Given the description of an element on the screen output the (x, y) to click on. 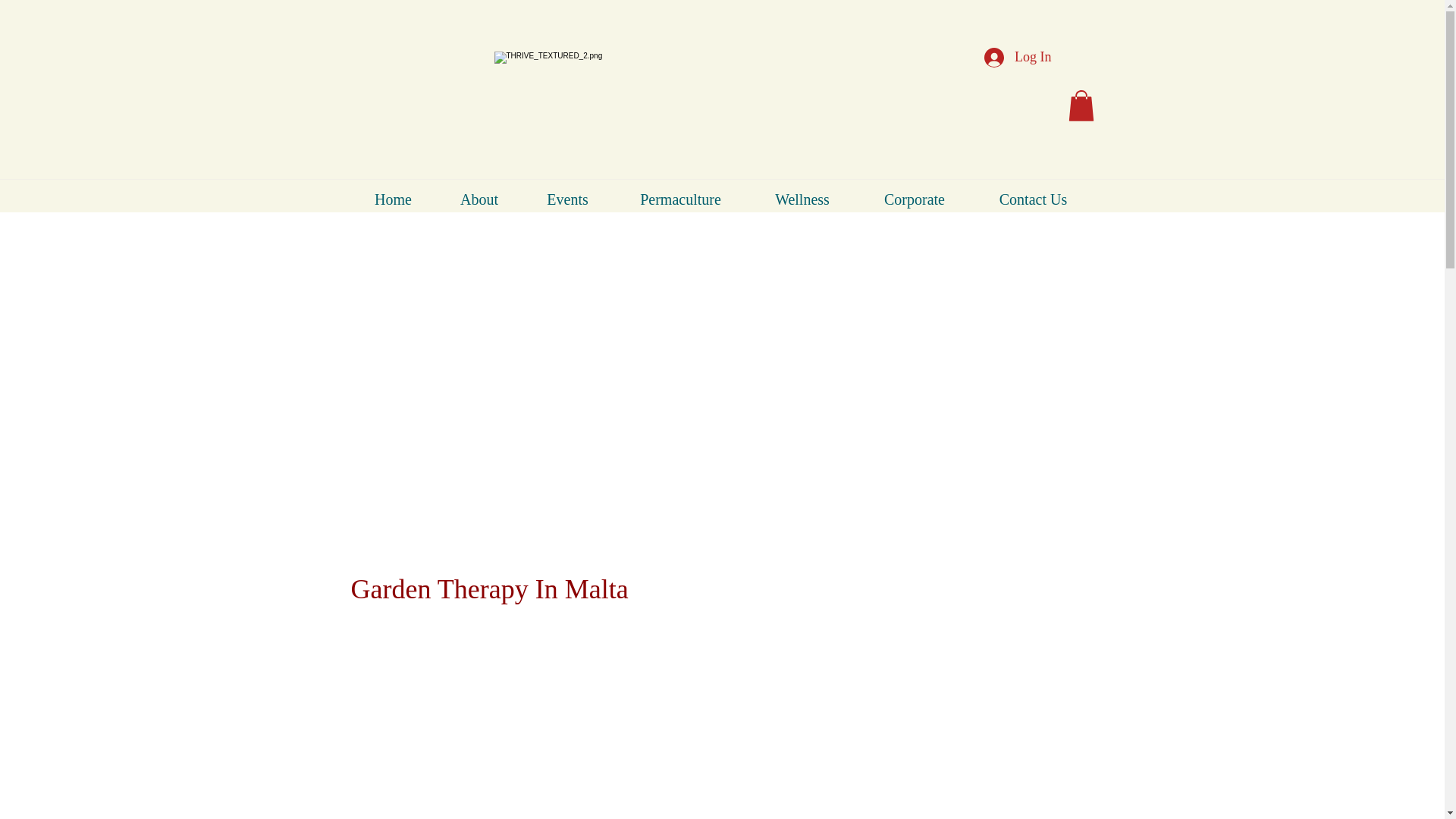
Corporate (914, 198)
Log In (1018, 57)
Wellness (802, 198)
About (478, 198)
Permaculture (680, 198)
Events (567, 198)
Contact Us (1033, 198)
Home (392, 198)
